Given the description of an element on the screen output the (x, y) to click on. 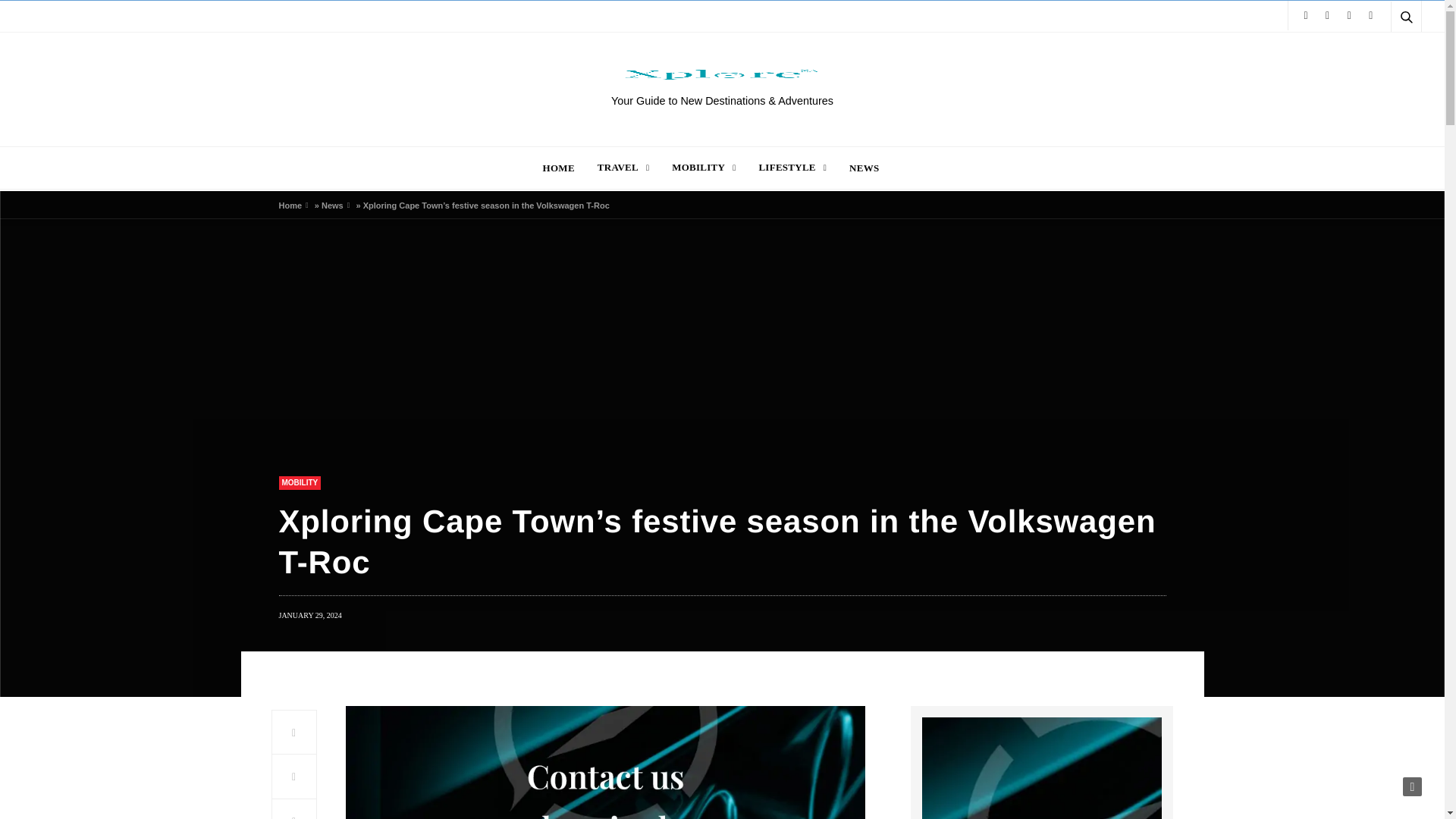
MOBILITY (703, 167)
Mobility (300, 482)
MOBILITY (300, 482)
Search (1386, 53)
NEWS (863, 167)
TRAVEL (622, 167)
LIFESTYLE (792, 167)
Home (290, 204)
HOME (559, 167)
News (332, 204)
